Given the description of an element on the screen output the (x, y) to click on. 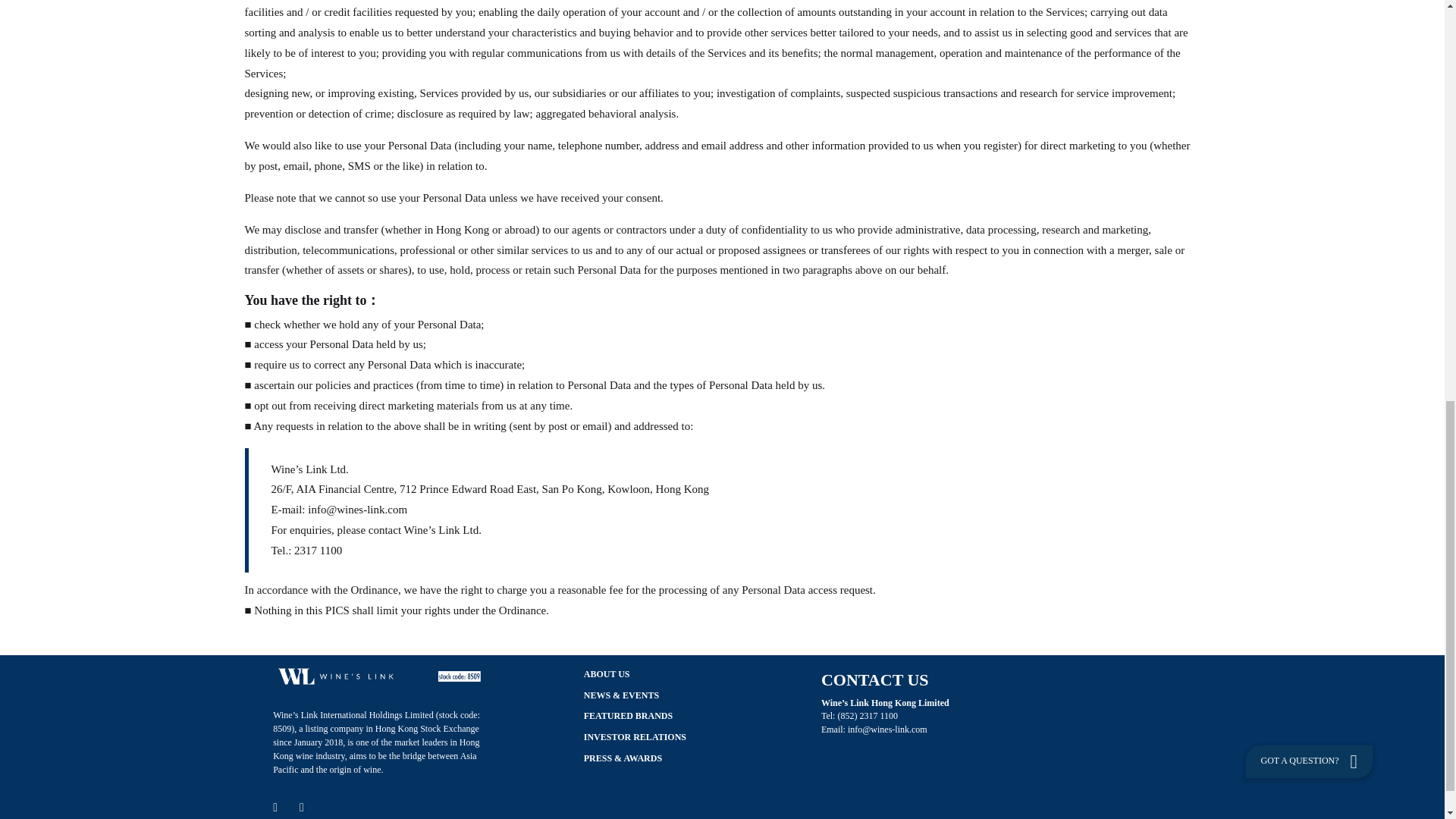
wines-link.com (898, 729)
ABOUT US (606, 674)
INVESTOR RELATIONS (634, 737)
